Given the description of an element on the screen output the (x, y) to click on. 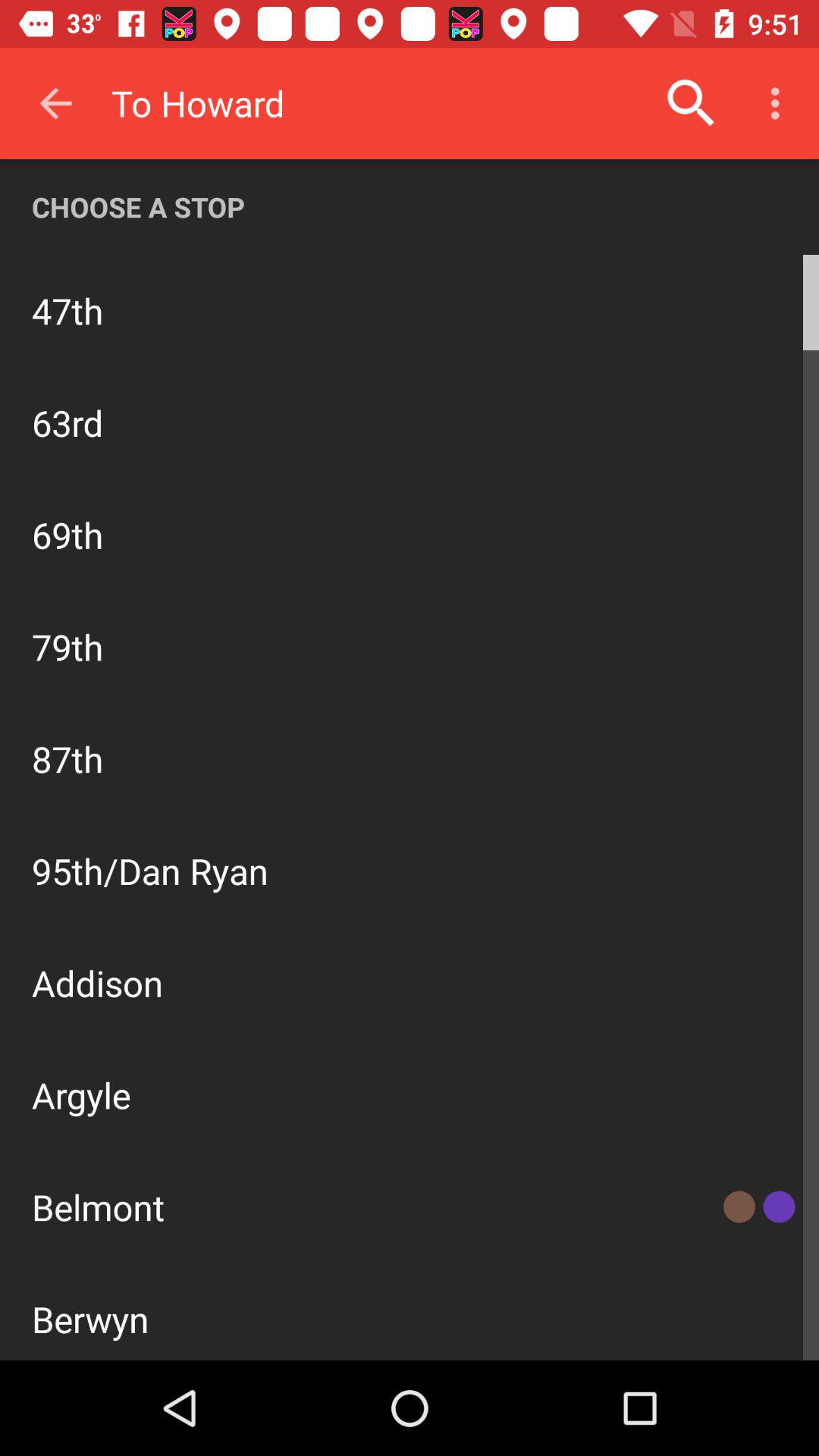
press the icon to the right of north bound icon (731, 309)
